Given the description of an element on the screen output the (x, y) to click on. 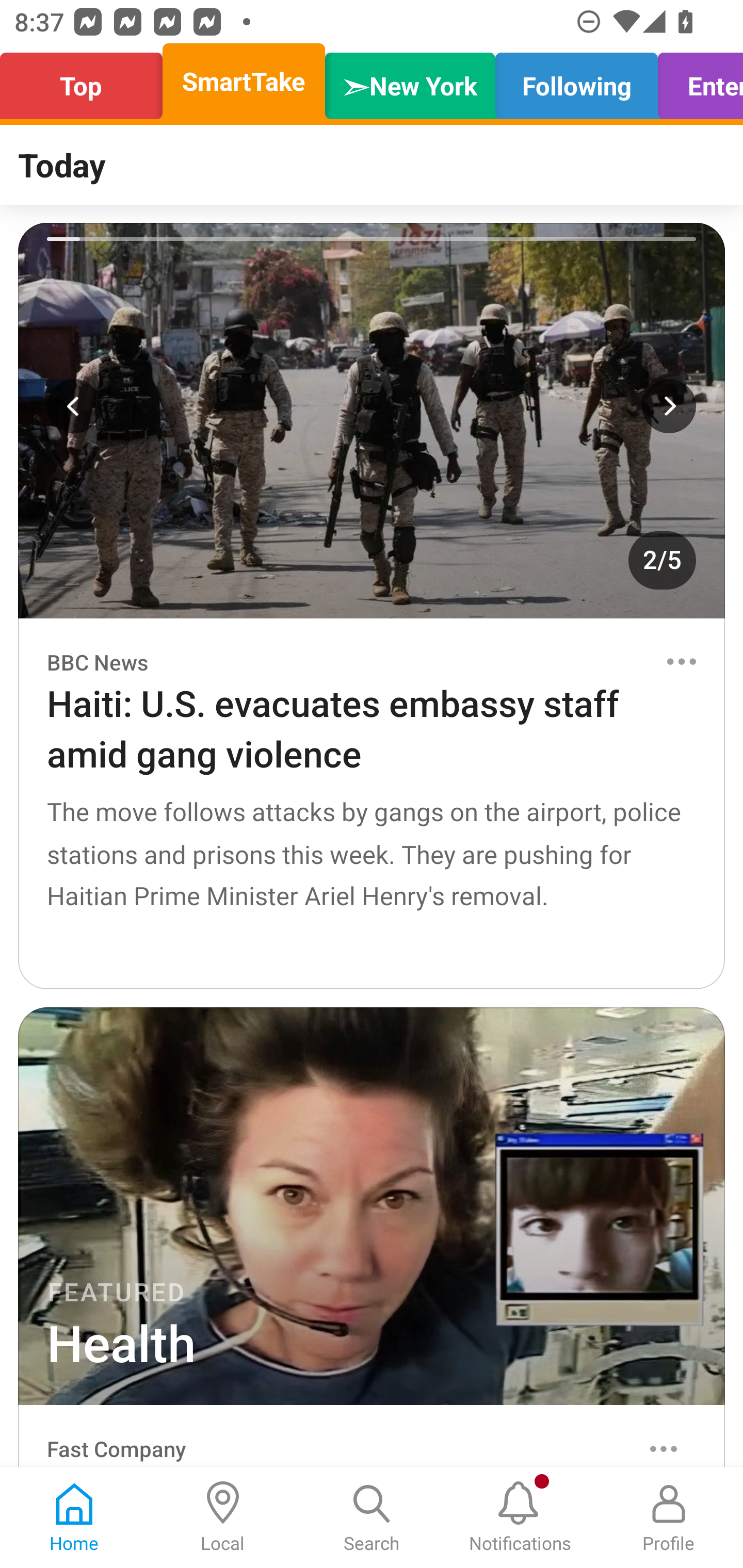
Top (86, 81)
SmartTake (243, 81)
➣New York (409, 81)
Following (576, 81)
Options (681, 661)
Fast Company Options (371, 1435)
Options (663, 1447)
Local (222, 1517)
Search (371, 1517)
Notifications, New notification Notifications (519, 1517)
Profile (668, 1517)
